Given the description of an element on the screen output the (x, y) to click on. 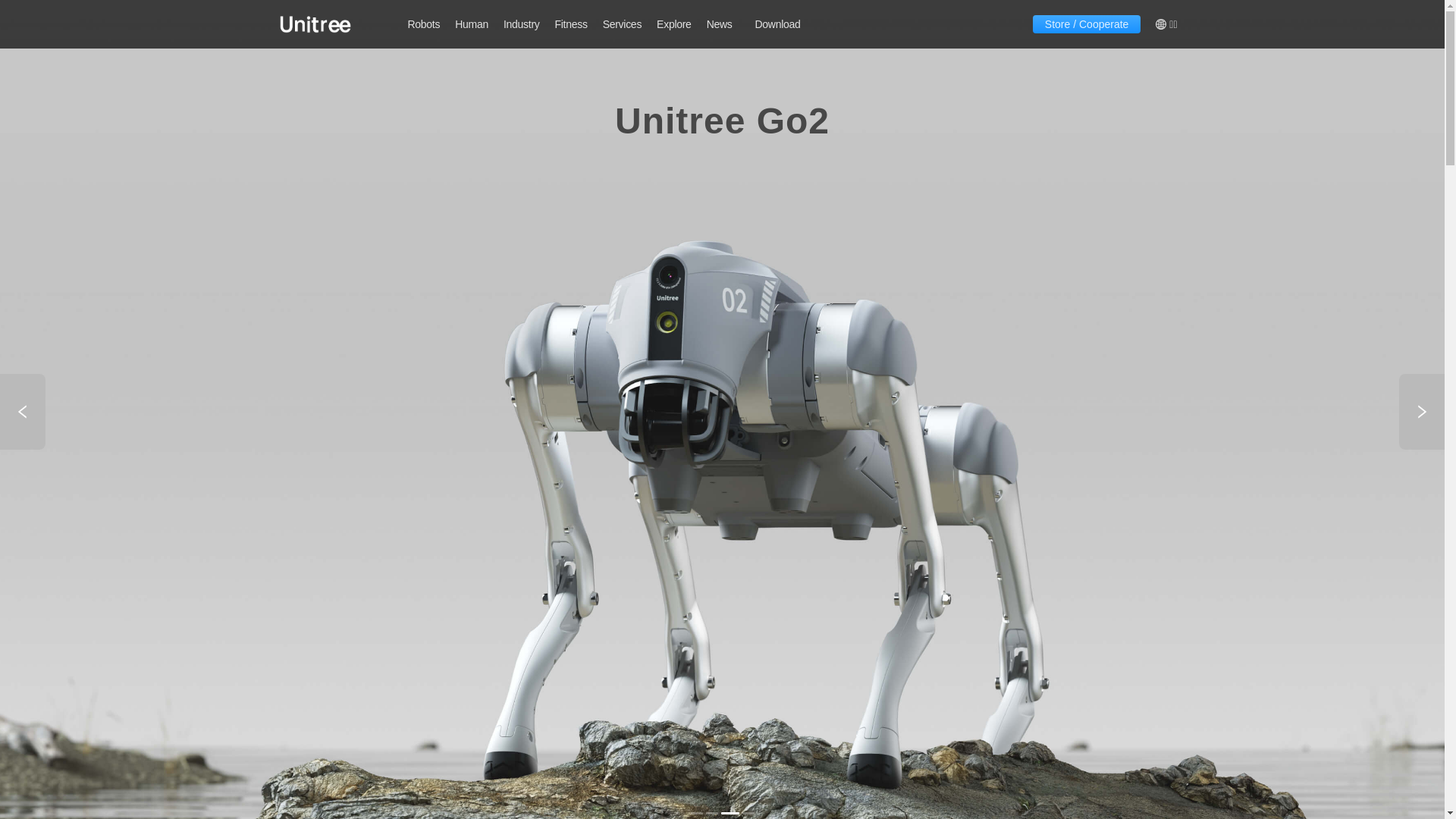
Learn More > Element type: text (722, 200)
3 Element type: text (732, 813)
2 Element type: text (714, 813)
Store / Cooperate Element type: text (1086, 24)
1 Element type: text (696, 813)
News Element type: text (719, 23)
4 Element type: text (747, 813)
Unitree Element type: hover (314, 24)
